Given the description of an element on the screen output the (x, y) to click on. 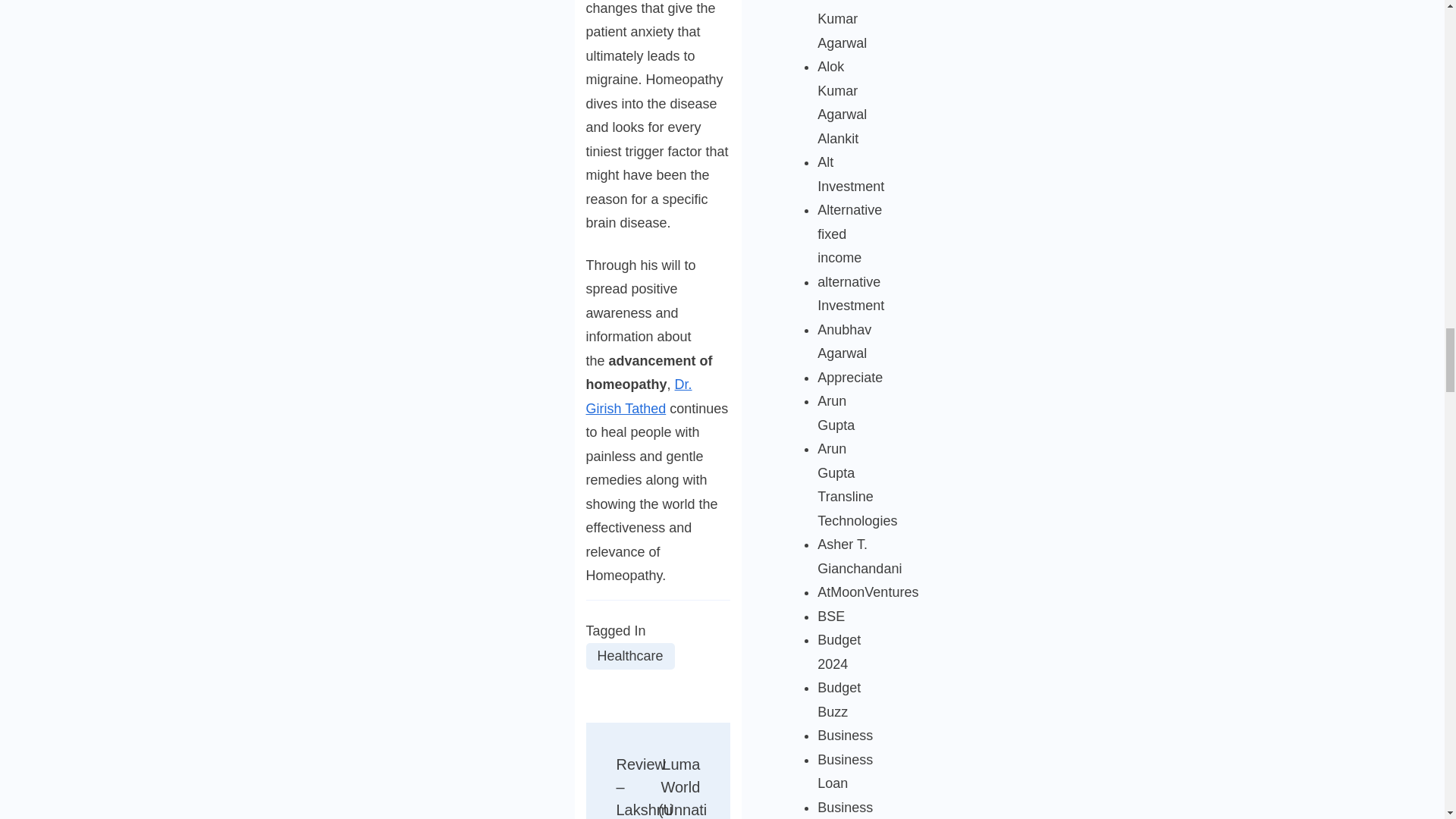
Dr. Girish Tathed (638, 396)
Healthcare (629, 655)
